Given the description of an element on the screen output the (x, y) to click on. 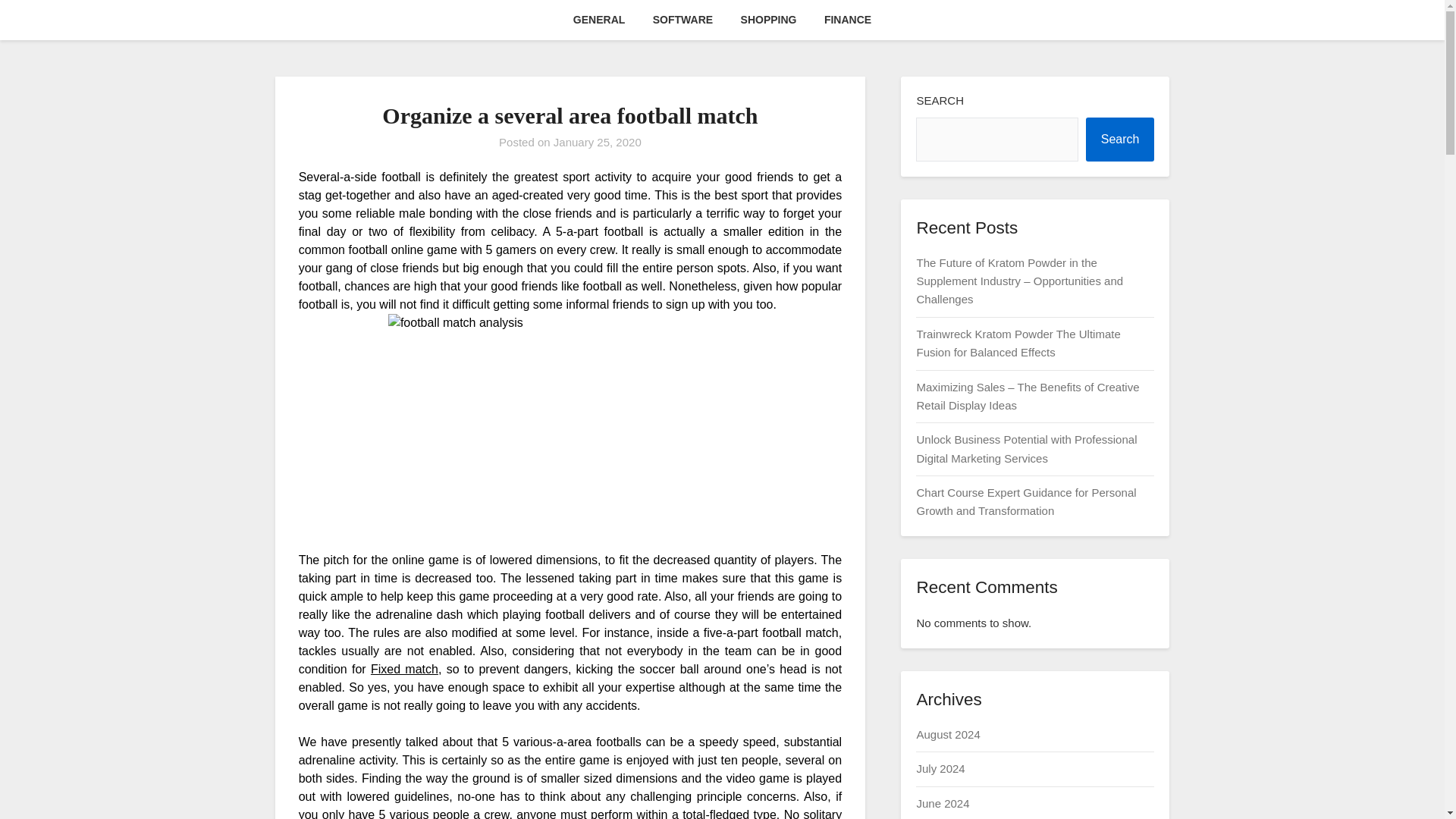
June 2024 (942, 802)
August 2024 (947, 734)
Search (1120, 139)
July 2024 (939, 768)
FINANCE (847, 20)
SHOPPING (769, 20)
GENERAL (598, 20)
